Given the description of an element on the screen output the (x, y) to click on. 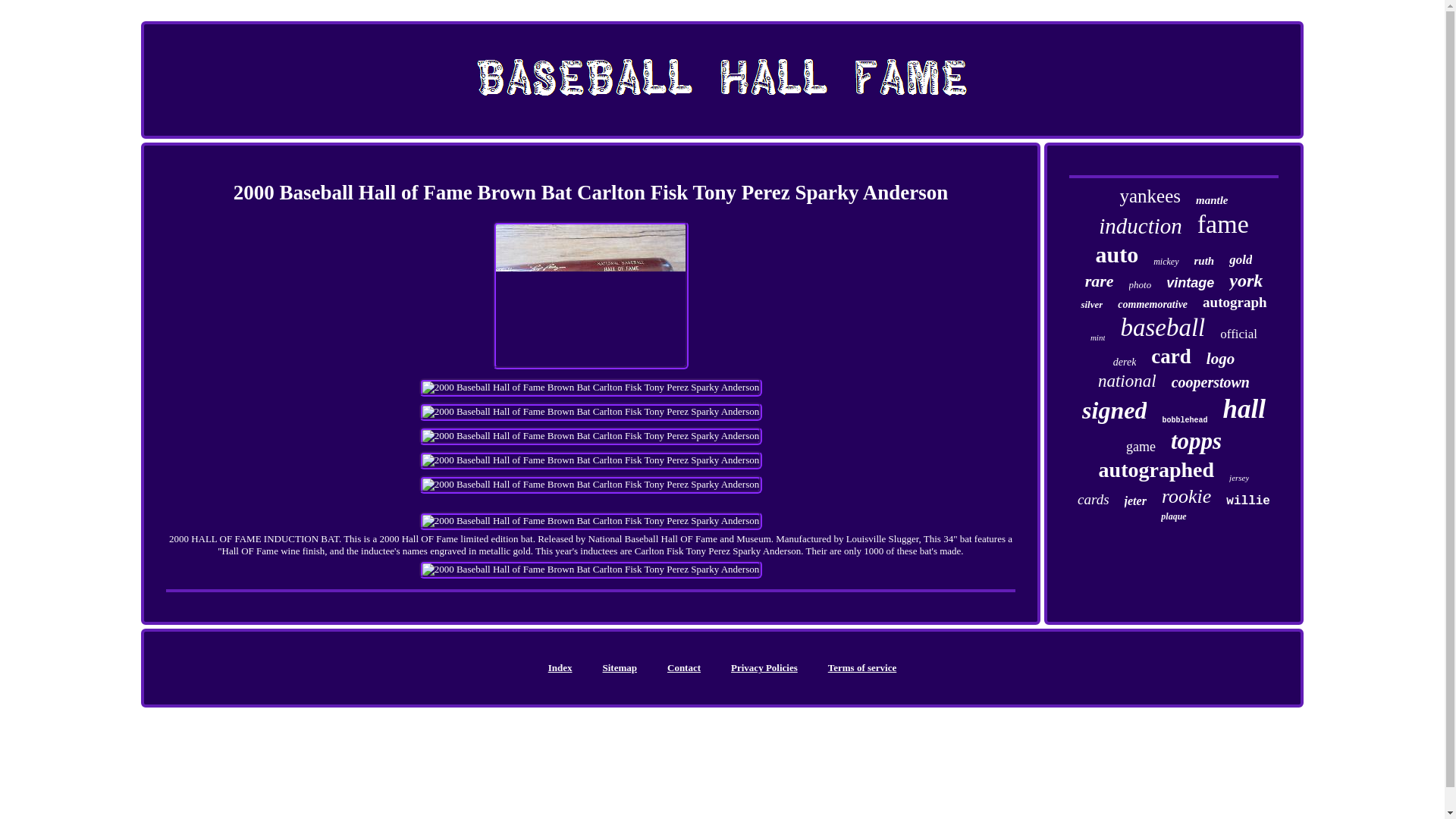
cooperstown (1210, 382)
commemorative (1153, 304)
rare (1098, 281)
mantle (1211, 200)
photo (1140, 285)
vintage (1190, 283)
national (1126, 381)
official (1238, 334)
signed (1114, 410)
